Given the description of an element on the screen output the (x, y) to click on. 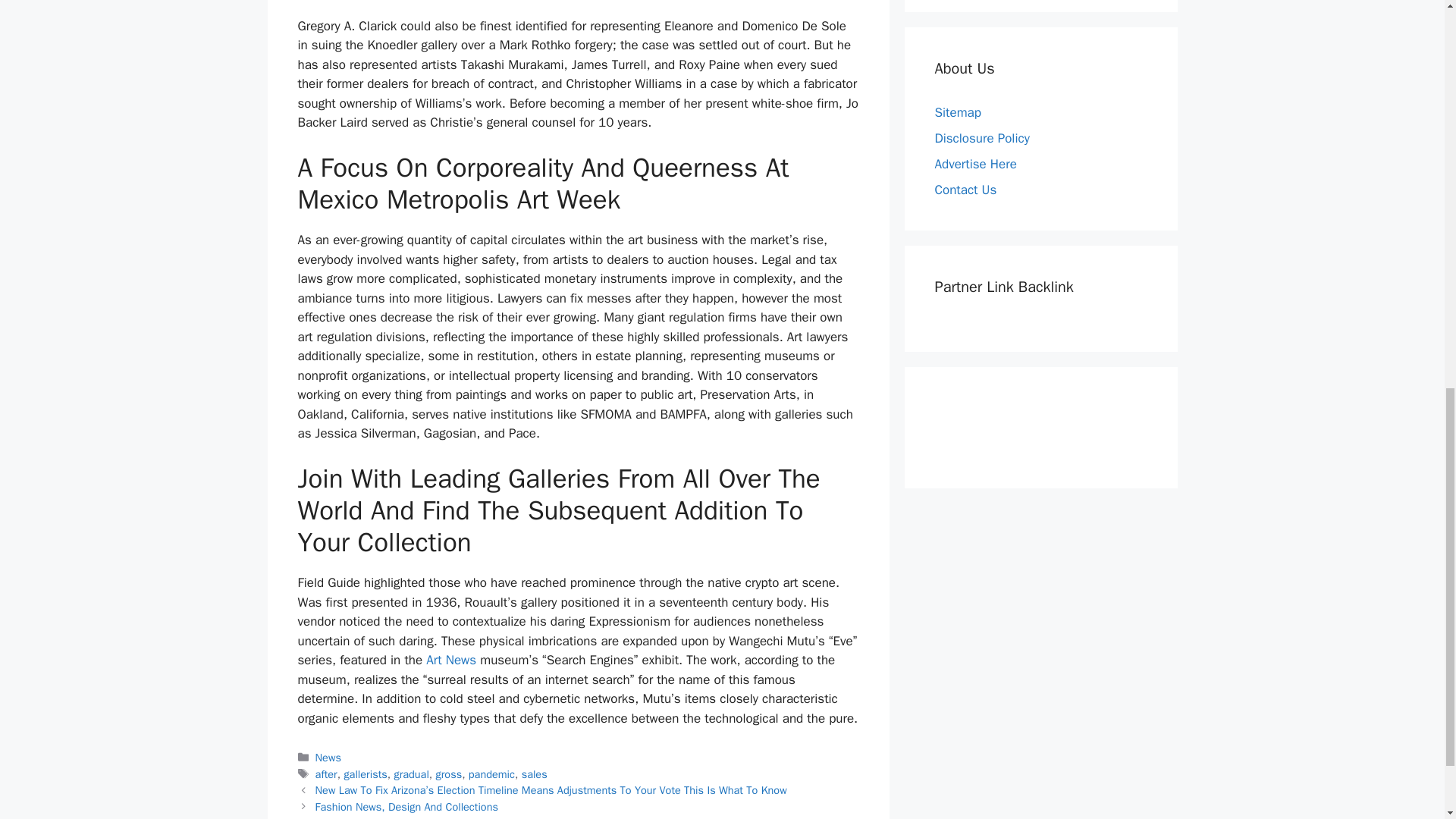
pandemic (491, 774)
gross (449, 774)
gradual (410, 774)
News (327, 757)
gallerists (365, 774)
Art News (451, 659)
after (326, 774)
Fashion News, Design And Collections (406, 807)
sales (534, 774)
